Given the description of an element on the screen output the (x, y) to click on. 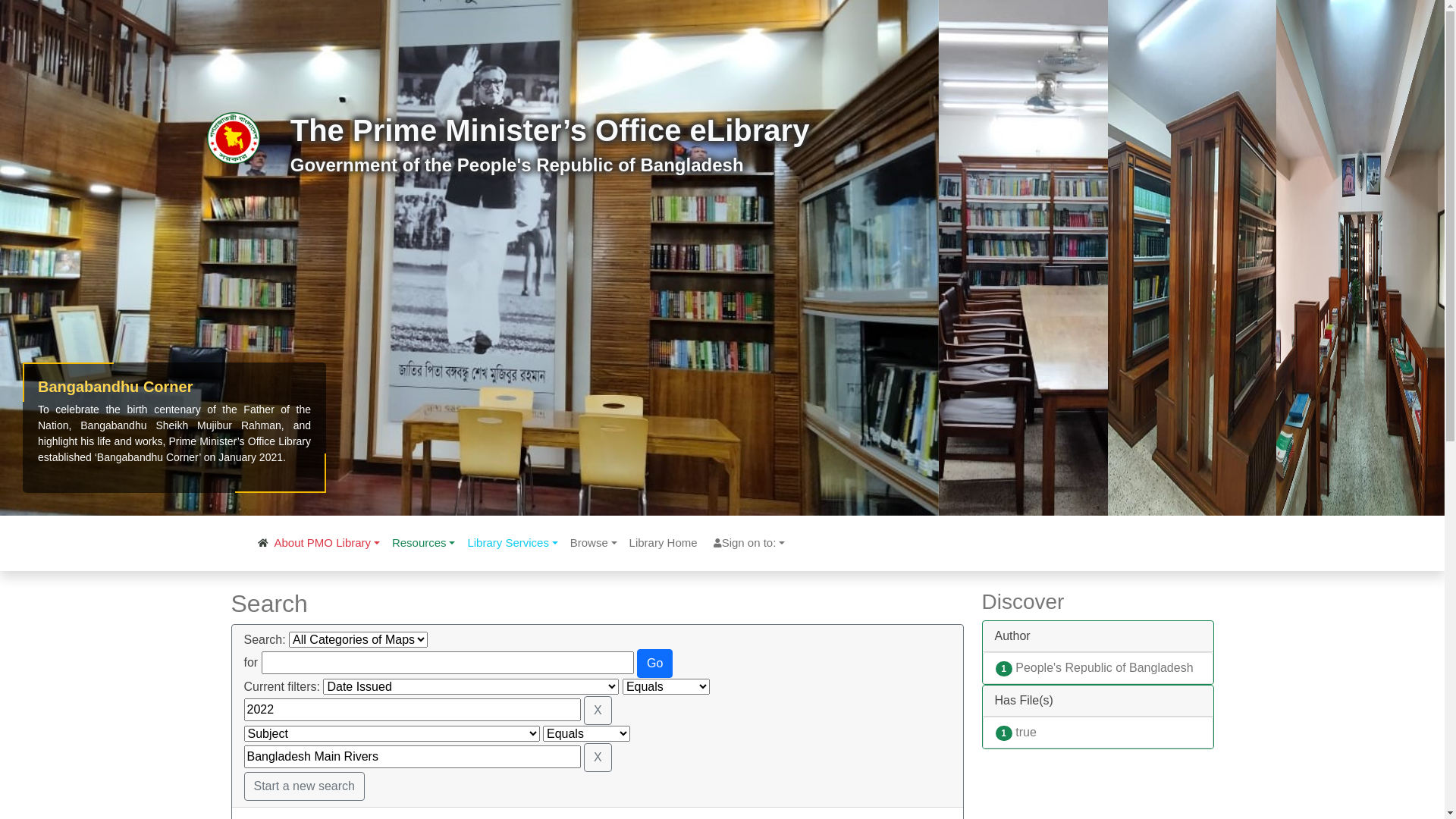
true Element type: text (1025, 731)
Sign on to: Element type: text (747, 543)
Library Home Element type: text (663, 543)
Start a new search Element type: text (304, 785)
Go Element type: text (654, 663)
X Element type: text (597, 710)
X Element type: text (597, 757)
About PMO Library Element type: text (326, 543)
Browse Element type: text (593, 543)
People's Republic of Bangladesh Element type: text (1103, 667)
Library Services Element type: text (512, 543)
Resources Element type: text (423, 543)
